Given the description of an element on the screen output the (x, y) to click on. 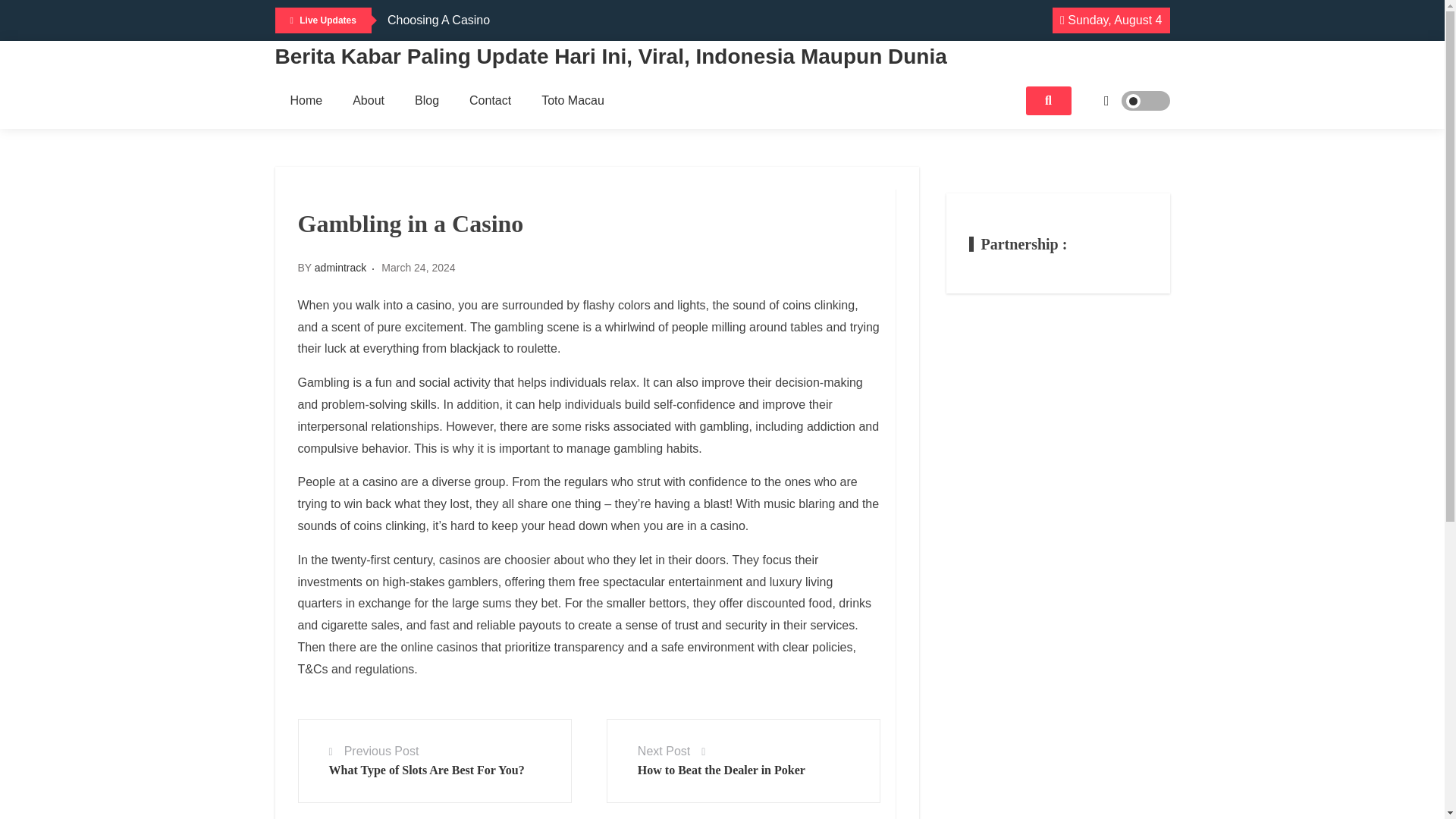
About (367, 100)
Previous Post (381, 750)
Contact (489, 100)
admintrack (340, 267)
March 24, 2024 (417, 267)
Home (306, 100)
What Type of Slots Are Best For You? (426, 769)
Next Post (663, 750)
How to Beat the Dealer in Poker (721, 769)
Toto Macau (572, 100)
Blog (426, 100)
Choosing A Casino (438, 20)
